Given the description of an element on the screen output the (x, y) to click on. 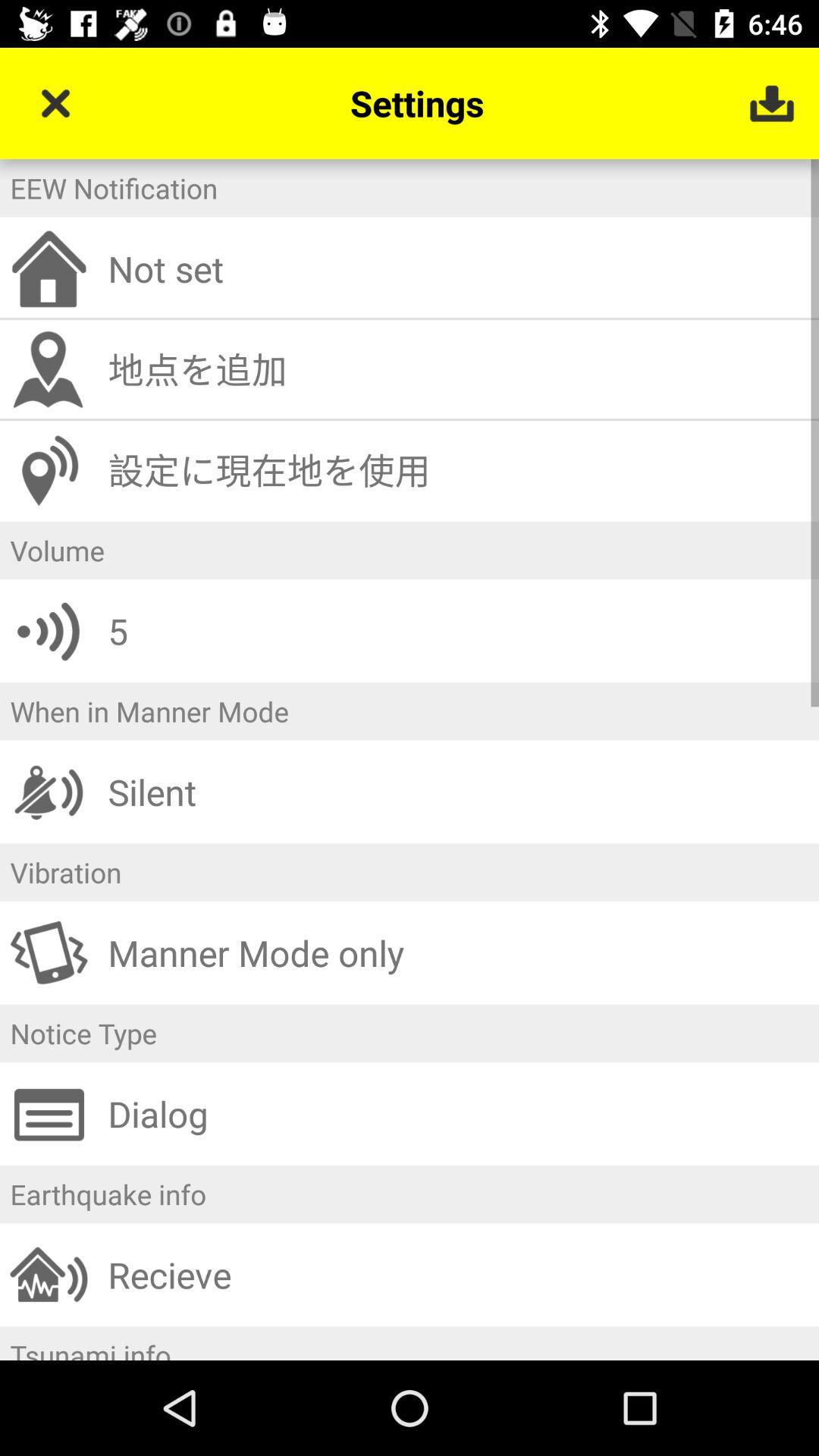
launch the dialog (458, 1113)
